Given the description of an element on the screen output the (x, y) to click on. 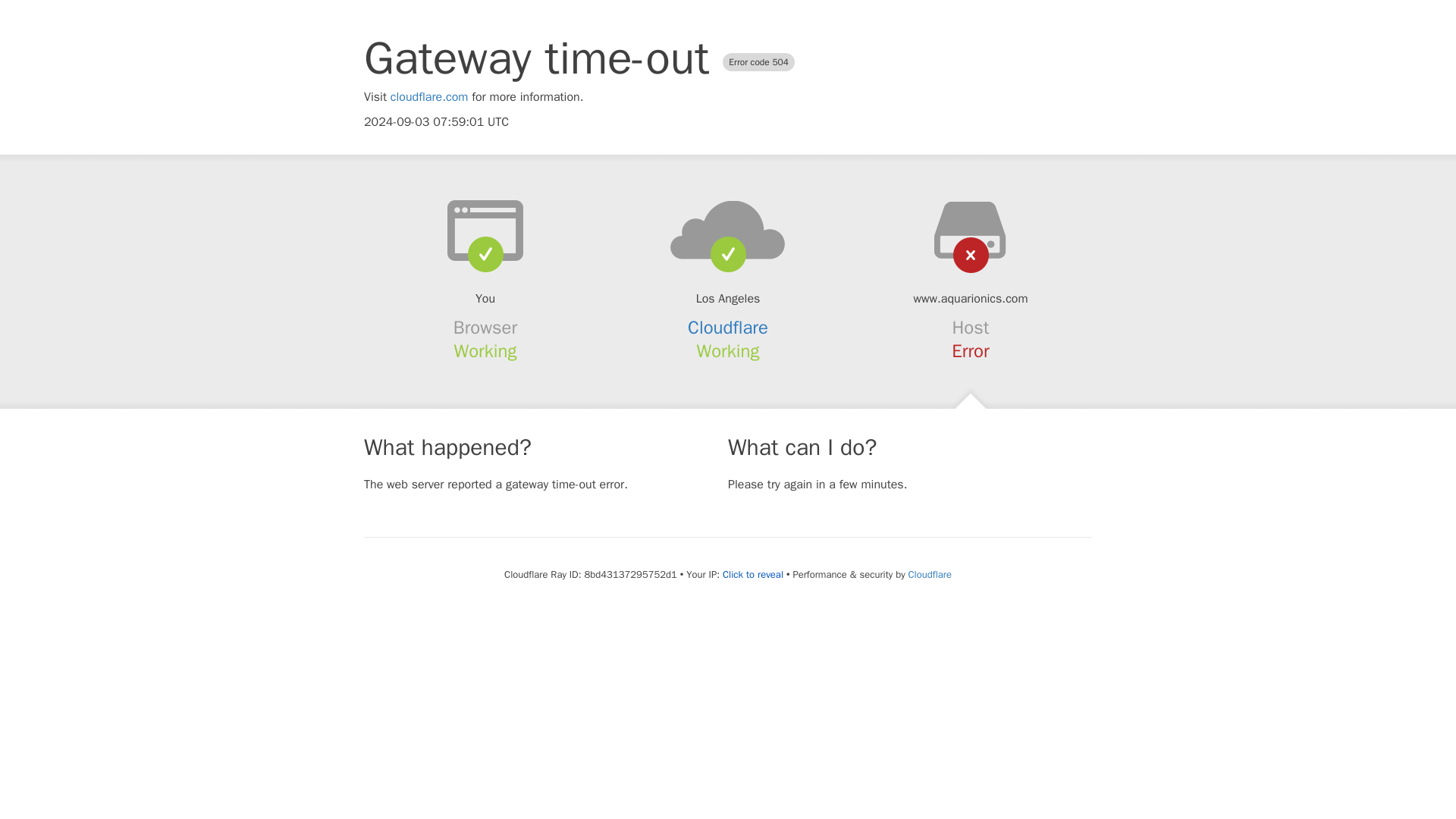
Cloudflare (930, 574)
cloudflare.com (429, 96)
Cloudflare (727, 327)
Click to reveal (752, 574)
